Given the description of an element on the screen output the (x, y) to click on. 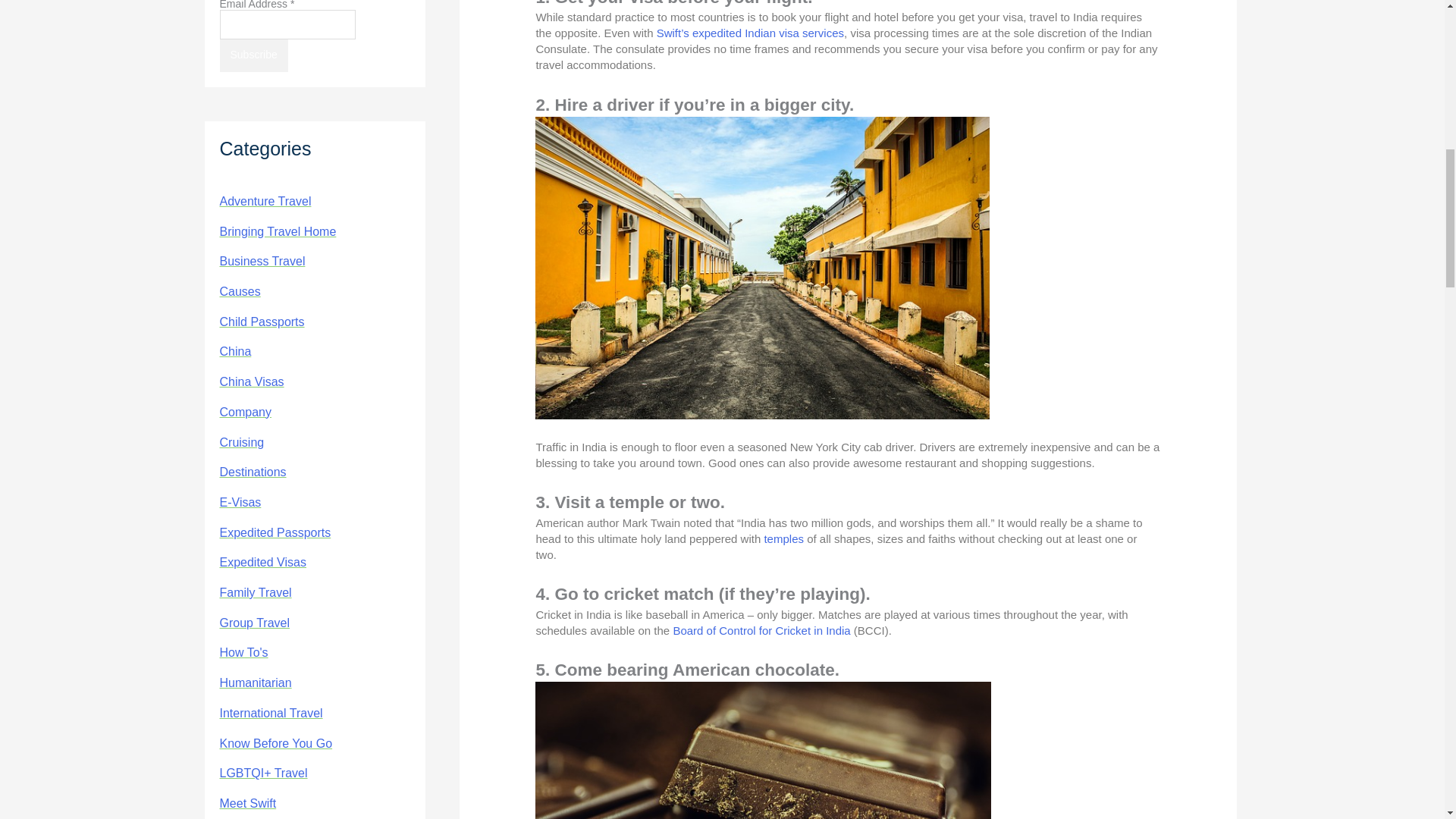
Subscribe (253, 55)
